Given the description of an element on the screen output the (x, y) to click on. 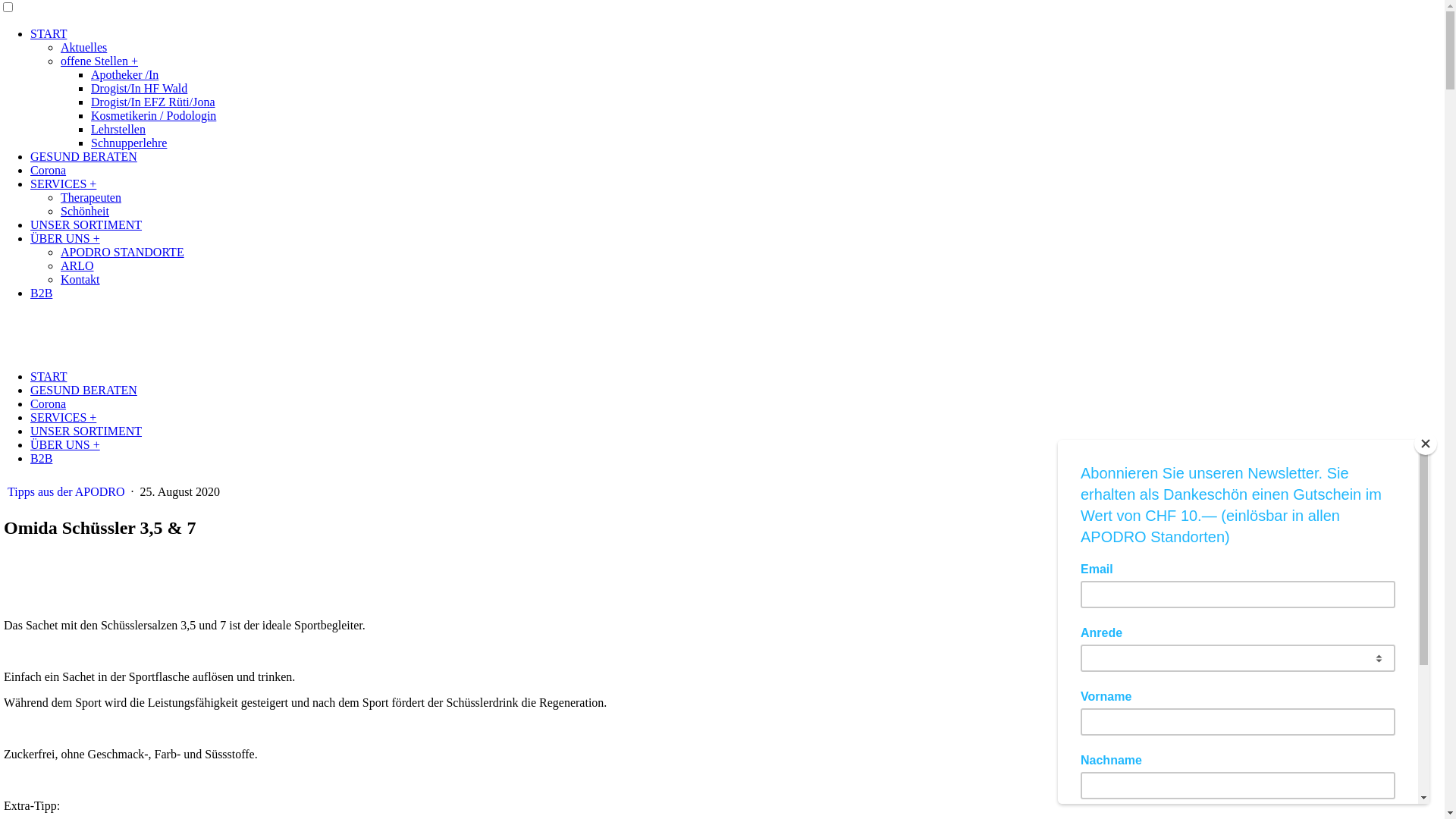
Kosmetikerin / Podologin Element type: text (153, 115)
Therapeuten Element type: text (90, 197)
UNSER SORTIMENT Element type: text (85, 224)
offene Stellen + Element type: text (99, 60)
Drogist/In HF Wald Element type: text (139, 87)
B2B Element type: text (41, 457)
Kontakt Element type: text (80, 279)
SERVICES + Element type: text (63, 183)
Aktuelles Element type: text (83, 46)
Corona Element type: text (47, 403)
Lehrstellen Element type: text (118, 128)
GESUND BERATEN Element type: text (83, 156)
APODRO STANDORTE Element type: text (122, 251)
START Element type: text (48, 33)
SERVICES + Element type: text (63, 417)
Apotheker /In Element type: text (124, 74)
Tipps aus der APODRO Element type: text (67, 491)
B2B Element type: text (41, 292)
START Element type: text (48, 376)
Corona Element type: text (47, 169)
GESUND BERATEN Element type: text (83, 389)
Schnupperlehre Element type: text (128, 142)
UNSER SORTIMENT Element type: text (85, 430)
ARLO Element type: text (77, 265)
